Given the description of an element on the screen output the (x, y) to click on. 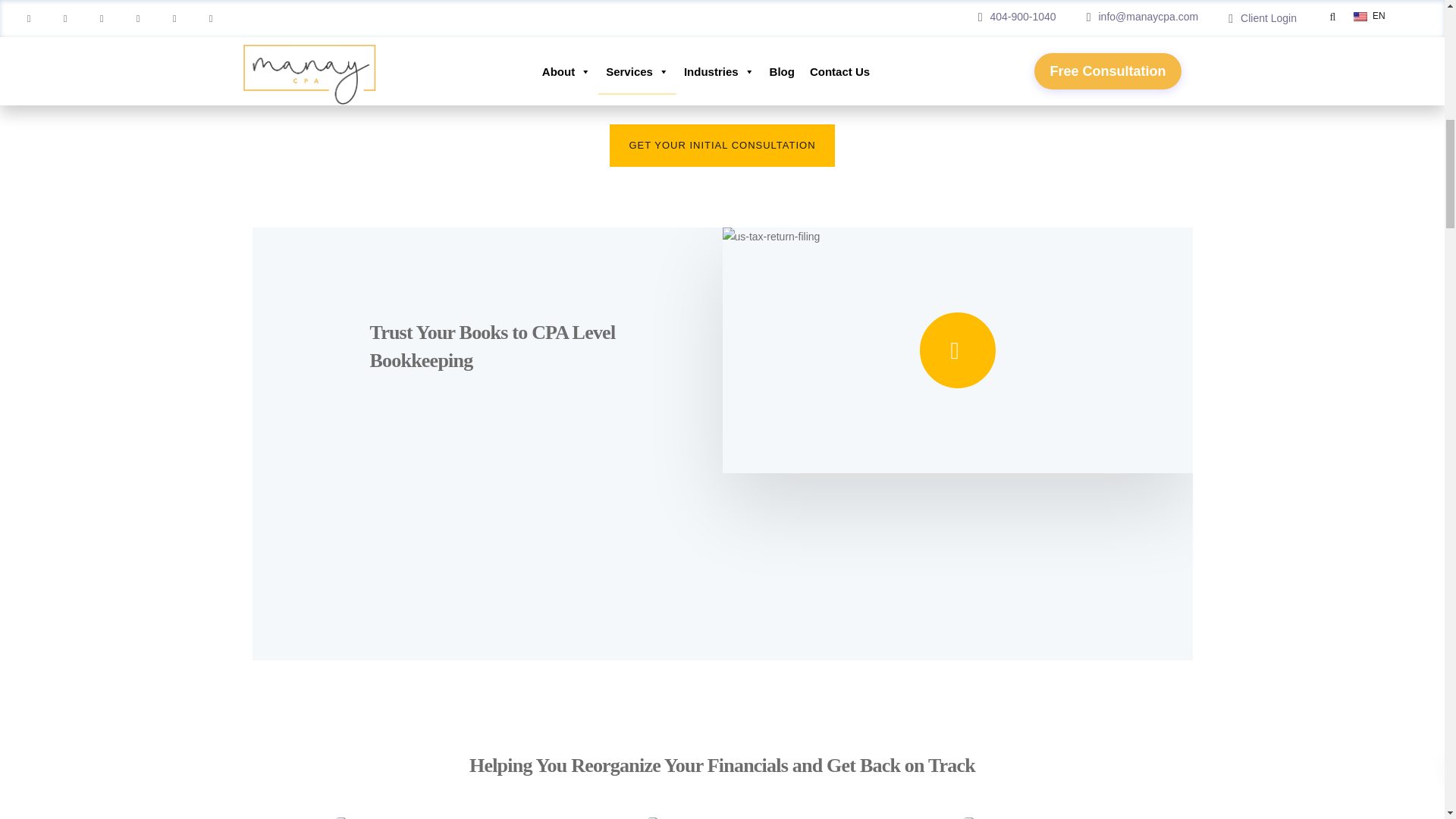
GET YOUR INITIAL CONSULTATION (722, 145)
us-tax-return-filing (957, 350)
Personalized-Assistance (1027, 818)
